Given the description of an element on the screen output the (x, y) to click on. 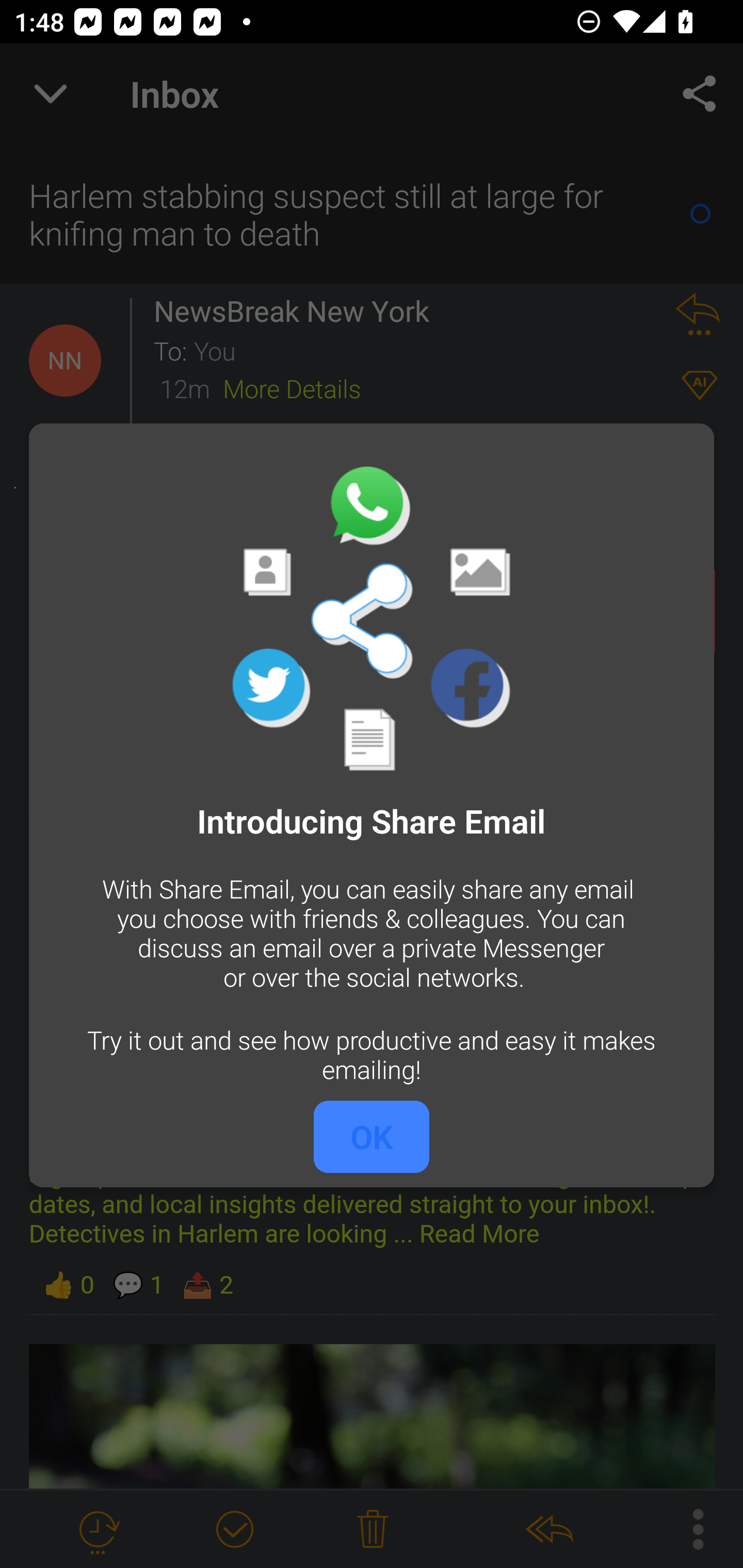
OK (371, 1136)
